Given the description of an element on the screen output the (x, y) to click on. 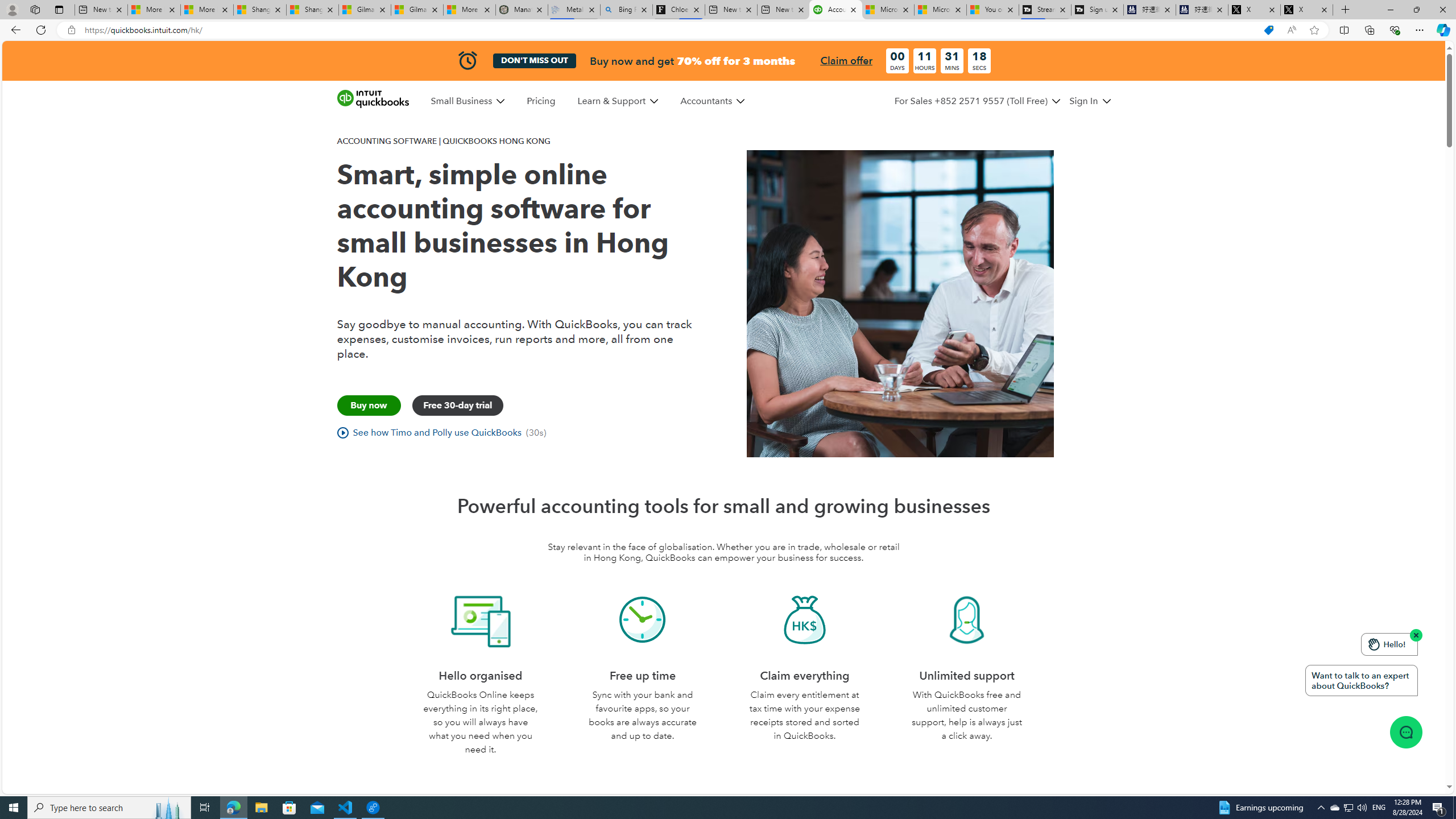
Bing Real Estate - Home sales and rental listings (626, 9)
Gilma and Hector both pose tropical trouble for Hawaii (416, 9)
Collections (1369, 29)
Close tab (1324, 9)
Tab actions menu (58, 9)
Settings and more (Alt+F) (1419, 29)
Small Business (467, 101)
Address and search bar (669, 29)
See how Timo and Polly use QuickBooks(30s) (441, 433)
To get missing image descriptions, open the context menu. (1405, 731)
Refresh (40, 29)
 Smart, simple online accounting software for small business (899, 303)
